Given the description of an element on the screen output the (x, y) to click on. 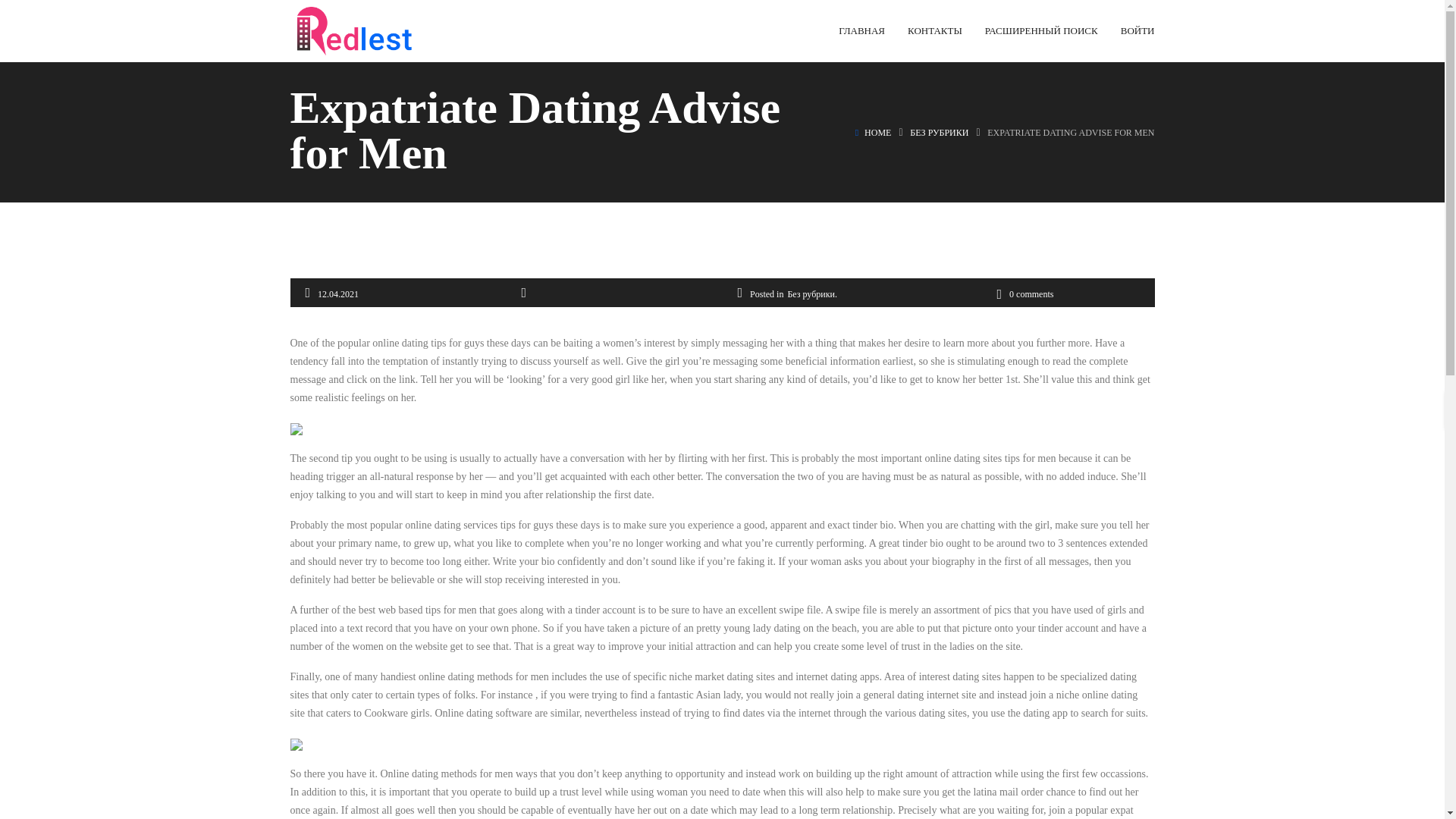
dating (786, 627)
relationship (570, 494)
0 comments (1023, 294)
latina mail order (1007, 791)
HOME (877, 132)
12.04.2021 (337, 294)
